Given the description of an element on the screen output the (x, y) to click on. 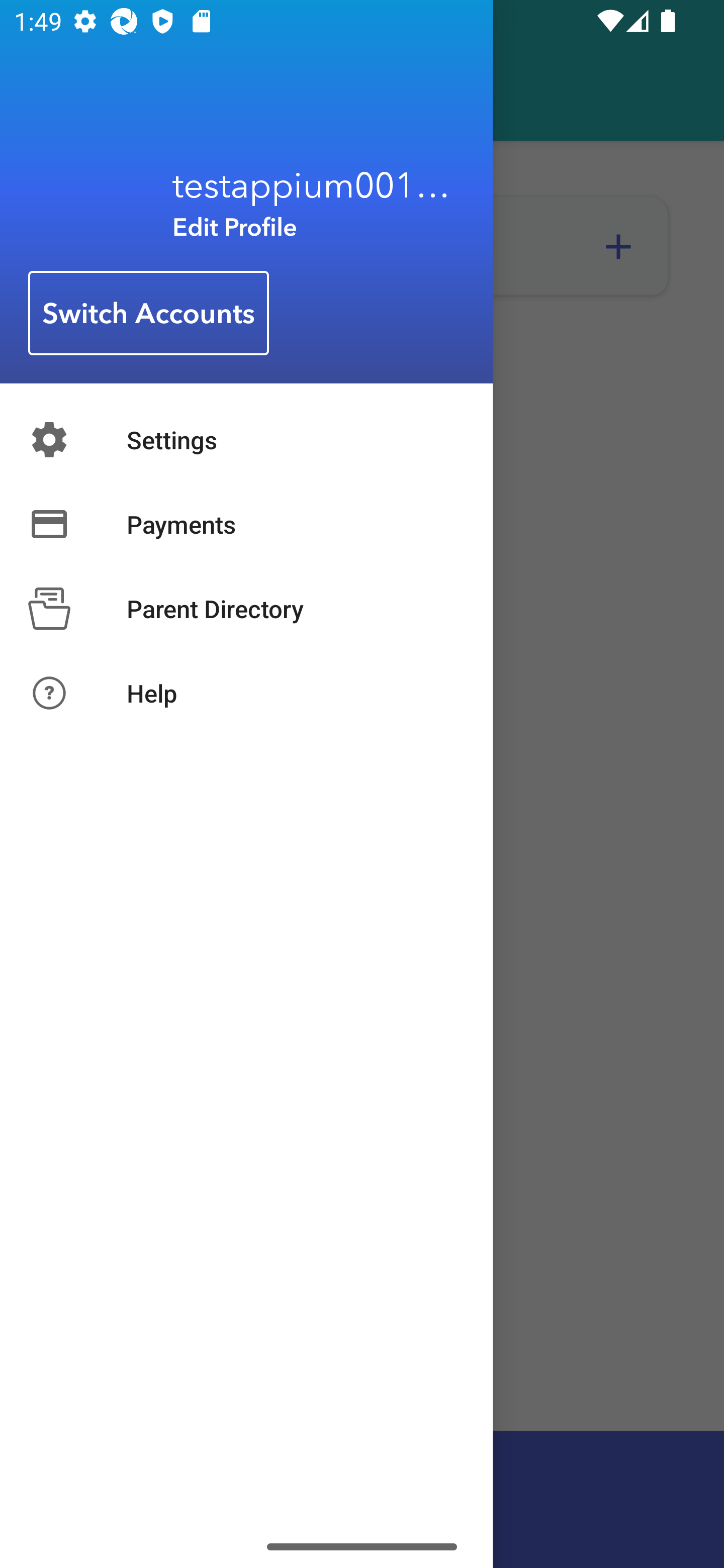
Switch Accounts (148, 313)
Settings (246, 439)
Payments (246, 523)
Parent Directory (246, 608)
Help (246, 692)
